Given the description of an element on the screen output the (x, y) to click on. 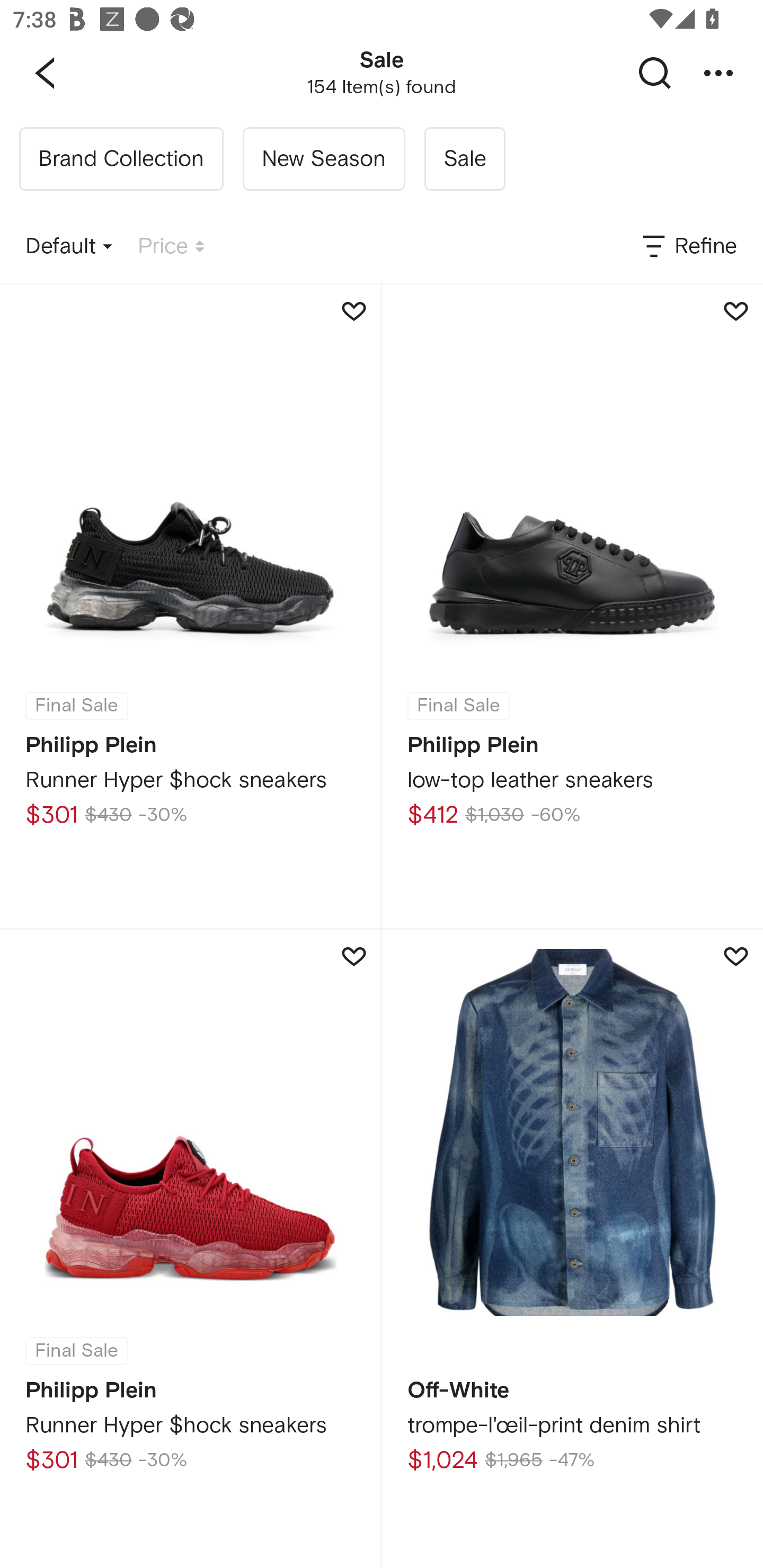
Brand Collection (121, 158)
New Season (323, 158)
Sale (464, 158)
Default (68, 246)
Price (171, 246)
Refine (688, 246)
